Given the description of an element on the screen output the (x, y) to click on. 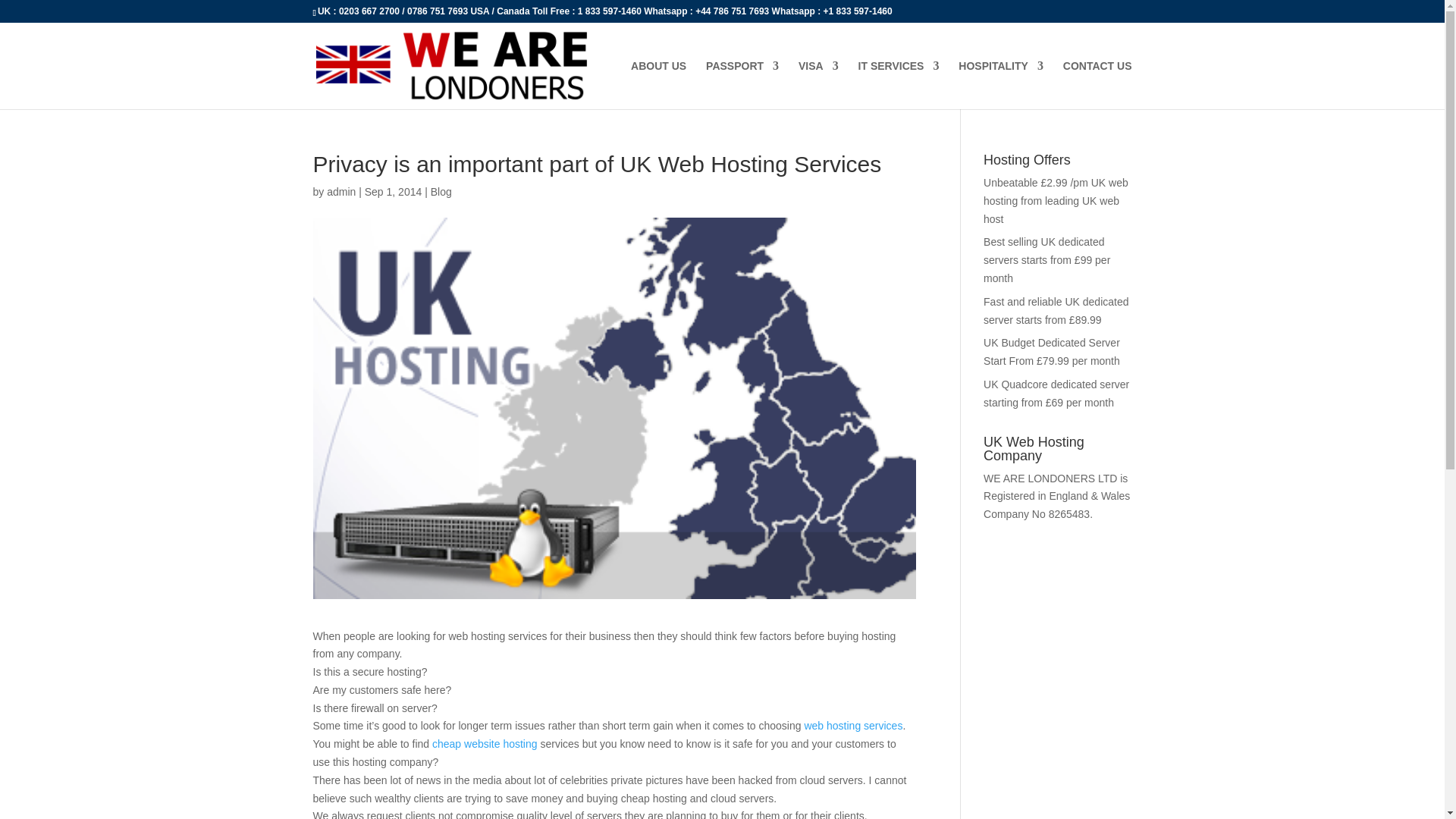
CONTACT US (1097, 84)
IT SERVICES (899, 84)
ABOUT US (657, 84)
Posts by admin (340, 191)
PASSPORT (742, 84)
HOSPITALITY (1000, 84)
